Given the description of an element on the screen output the (x, y) to click on. 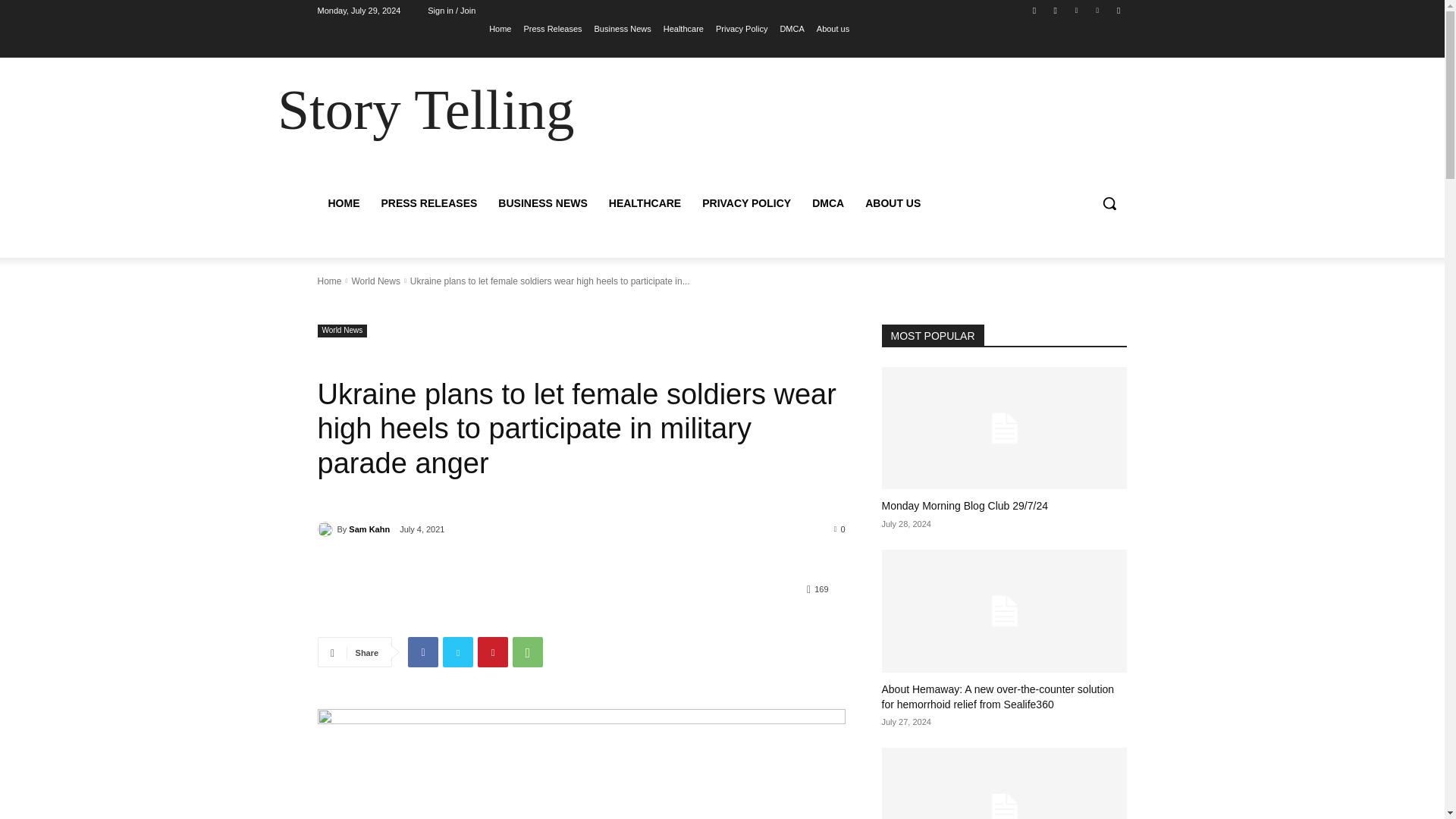
Home (500, 28)
Facebook (1034, 9)
Youtube (1117, 9)
Instagram (1055, 9)
Twitter (1075, 9)
Vimeo (1097, 9)
